Given the description of an element on the screen output the (x, y) to click on. 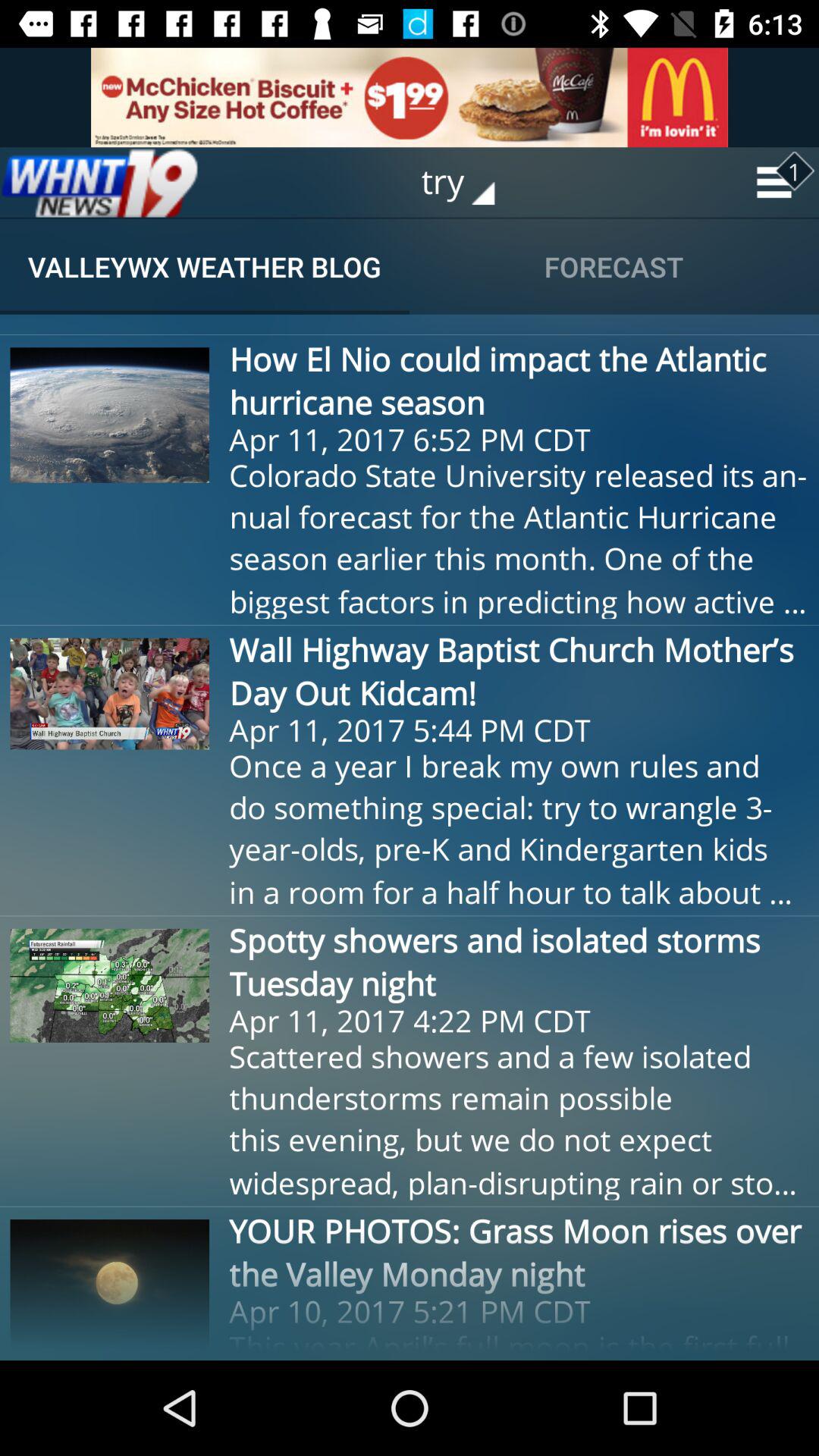
turn on the item to the left of try icon (99, 182)
